Given the description of an element on the screen output the (x, y) to click on. 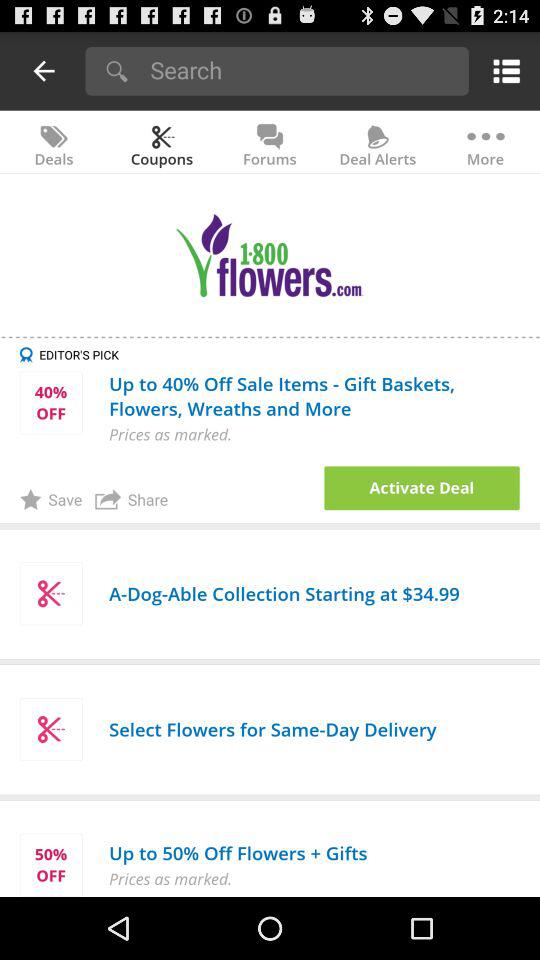
choose coupon (422, 488)
